Given the description of an element on the screen output the (x, y) to click on. 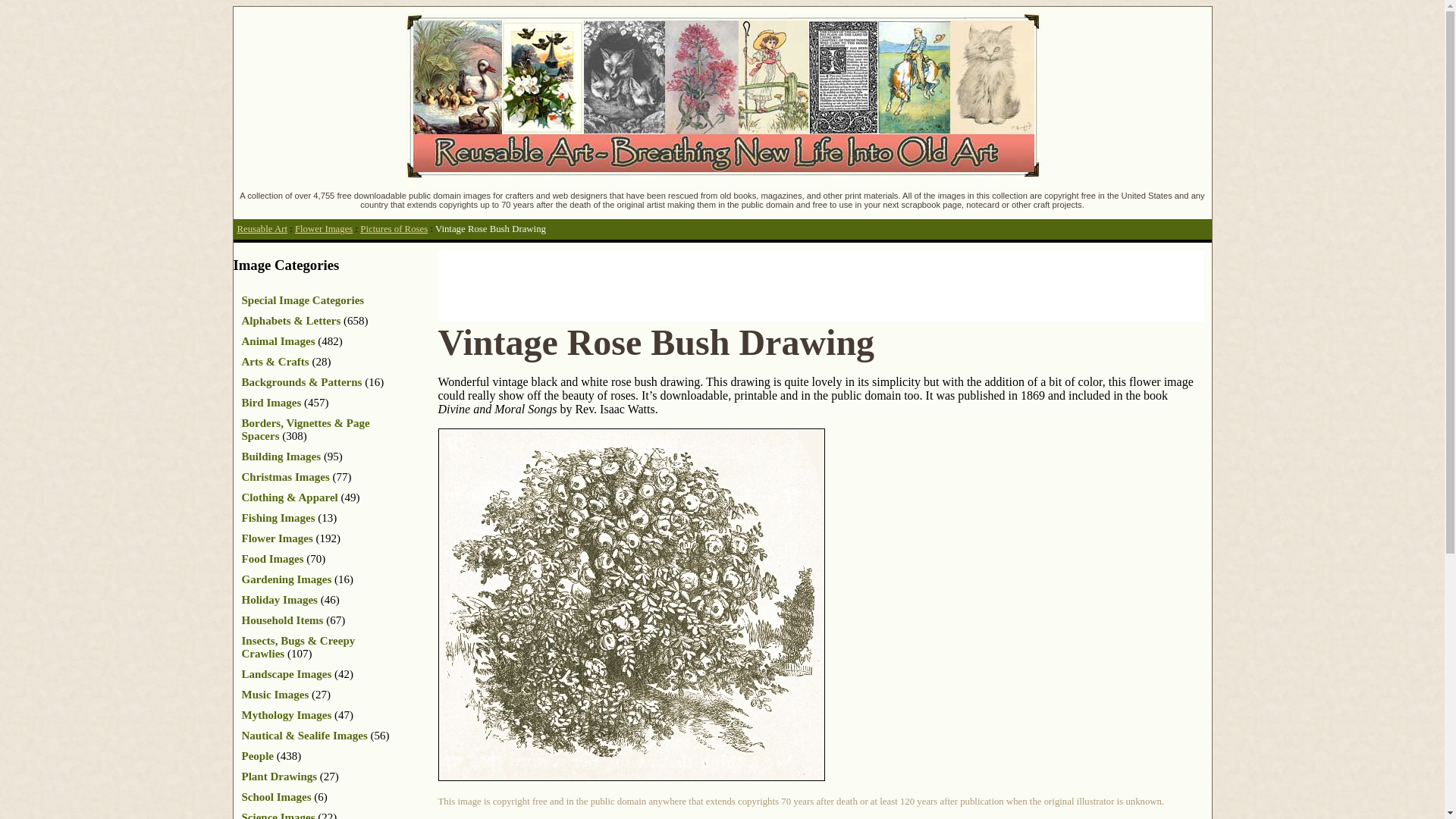
Gardening Images (286, 579)
Landscape Images (286, 674)
Animal Images (277, 340)
Music Images (274, 694)
People (257, 756)
Christmas Images (285, 476)
Holiday Images (279, 599)
Advertisement (714, 284)
Fishing Images (277, 517)
Food Images (271, 558)
